Given the description of an element on the screen output the (x, y) to click on. 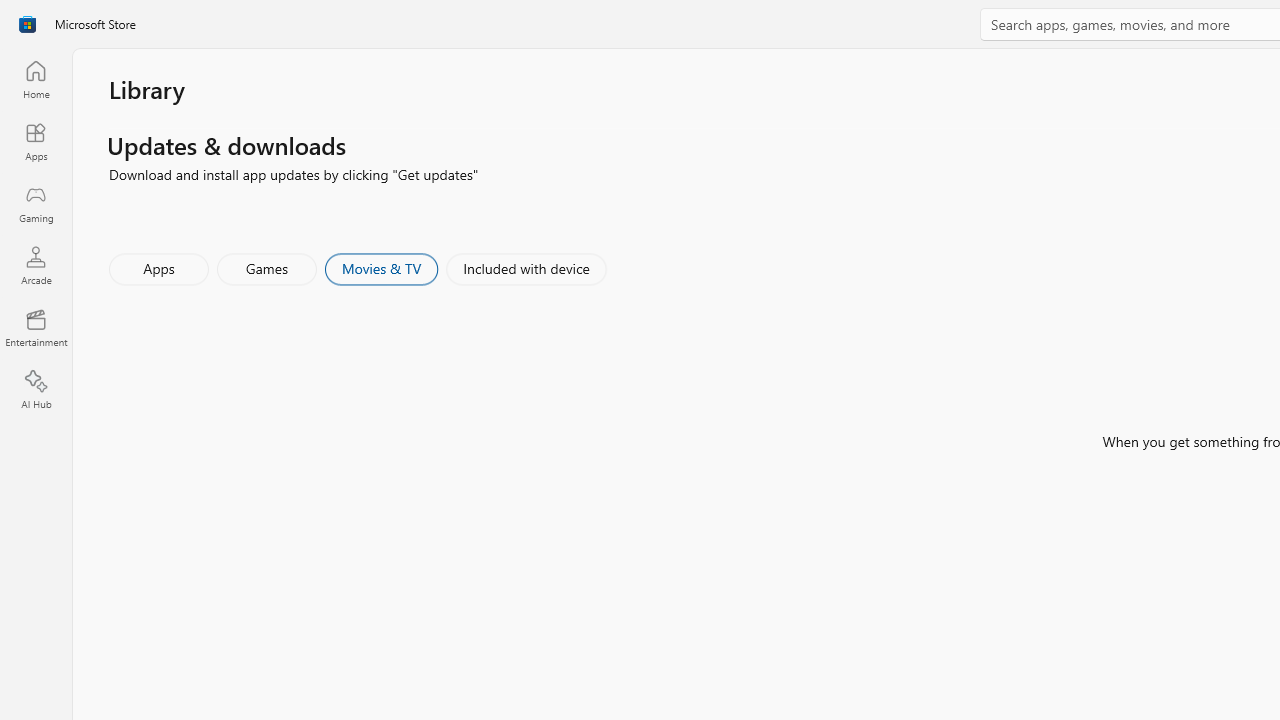
Included with device (525, 268)
Games (267, 268)
Movies & TV (381, 268)
